Given the description of an element on the screen output the (x, y) to click on. 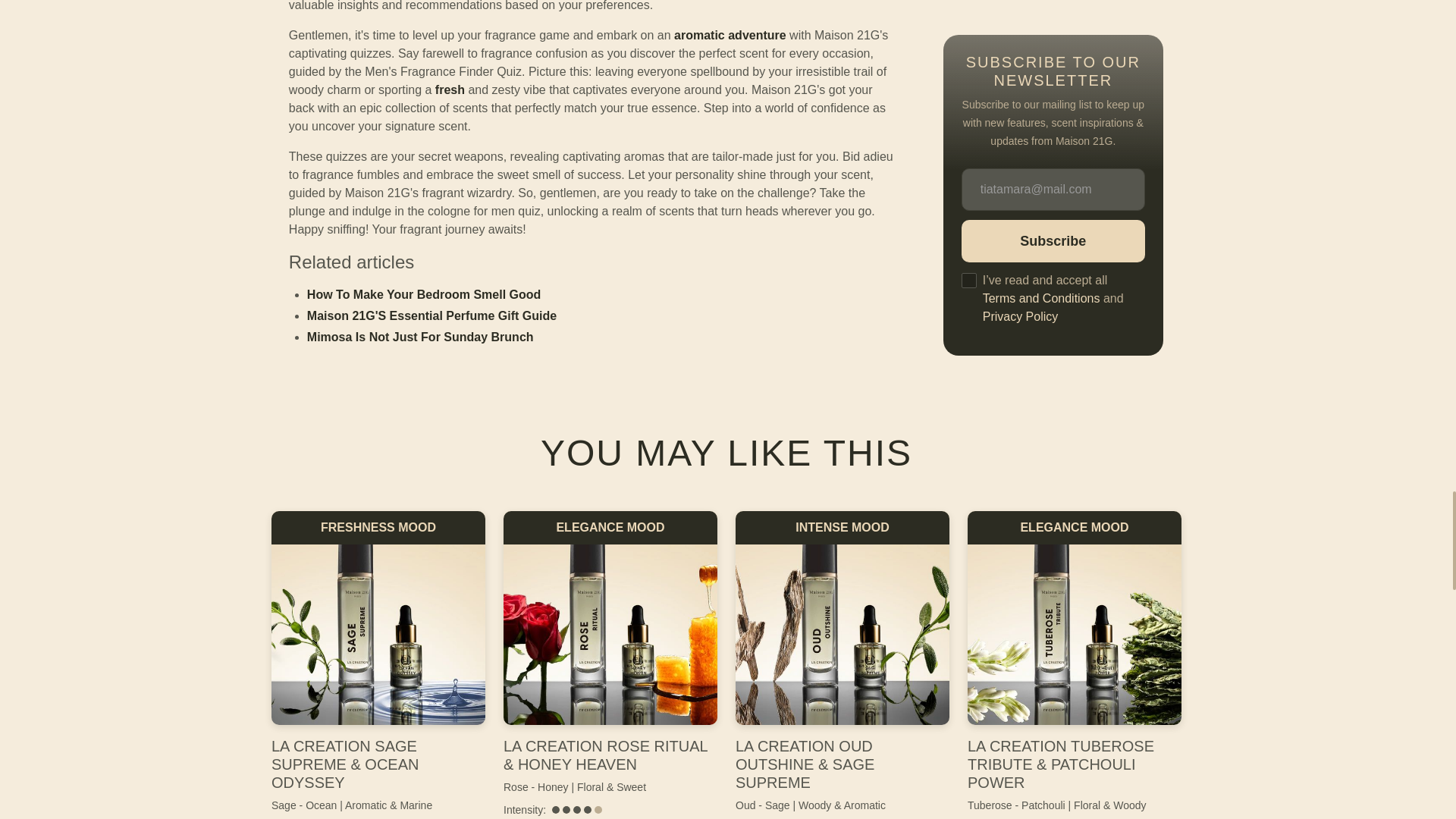
Mimosa Is Not Just For Sunday Brunch (420, 336)
Maison 21G'S Essential Perfume Gift Guide (431, 315)
aromatic adventure (730, 34)
How To Make Your Bedroom Smell Good (423, 294)
fresh (449, 89)
